Given the description of an element on the screen output the (x, y) to click on. 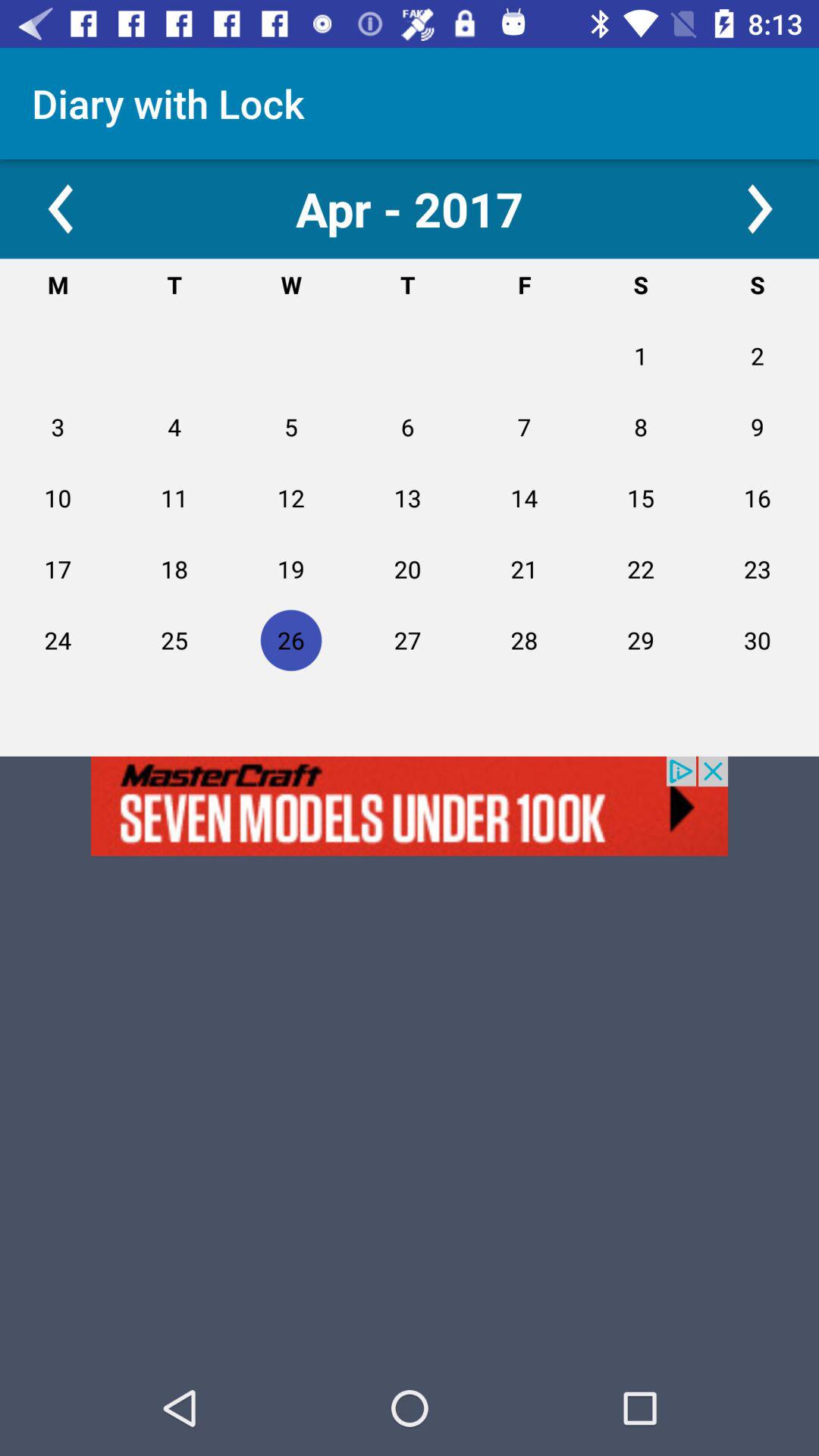
advance month (759, 208)
